Given the description of an element on the screen output the (x, y) to click on. 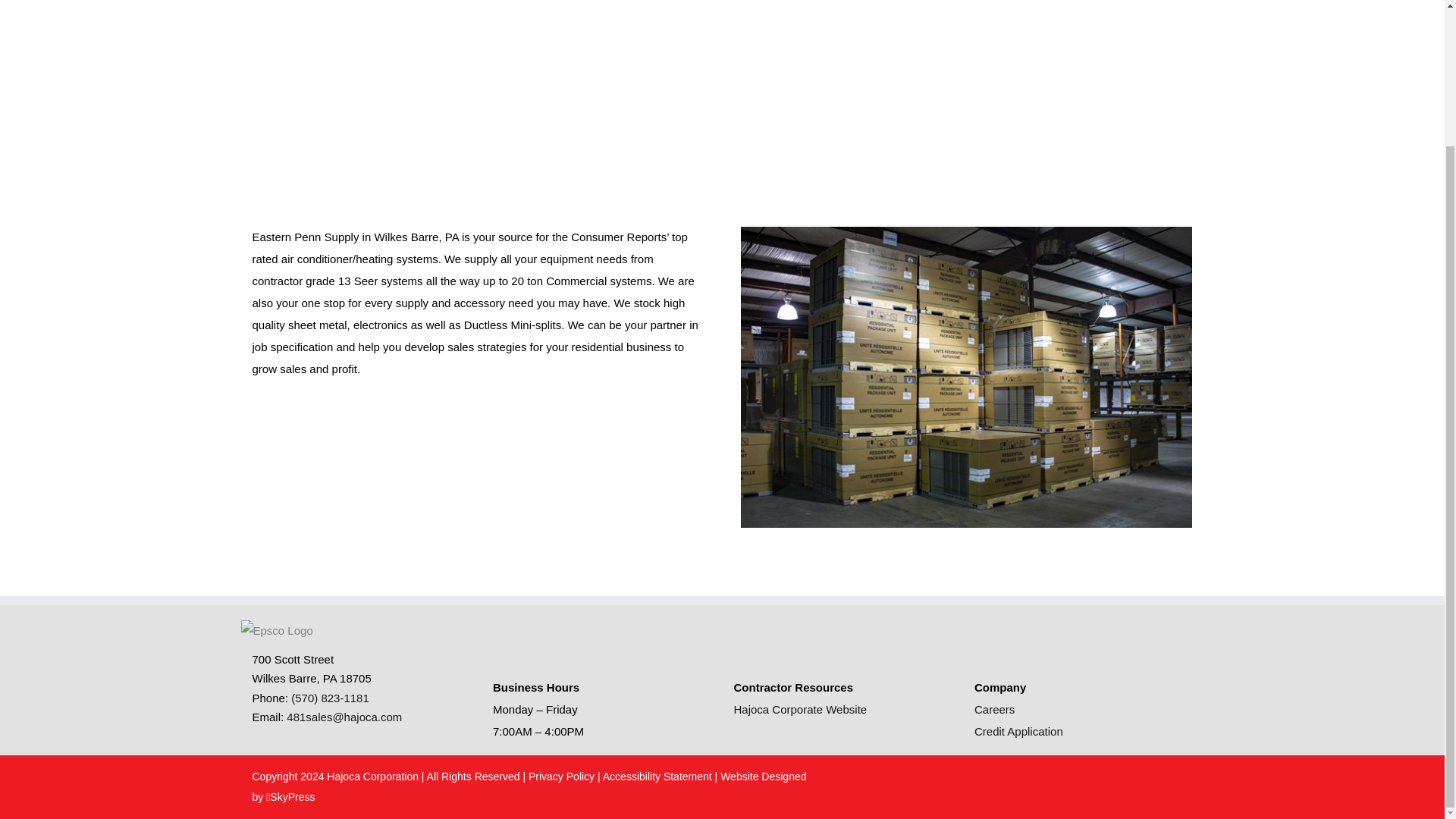
Privacy Policy (561, 776)
Accessibility Statement (656, 776)
SkyPress (290, 797)
Credit Application (1018, 730)
Careers (994, 708)
Hajoca Corporate Website (800, 708)
